Given the description of an element on the screen output the (x, y) to click on. 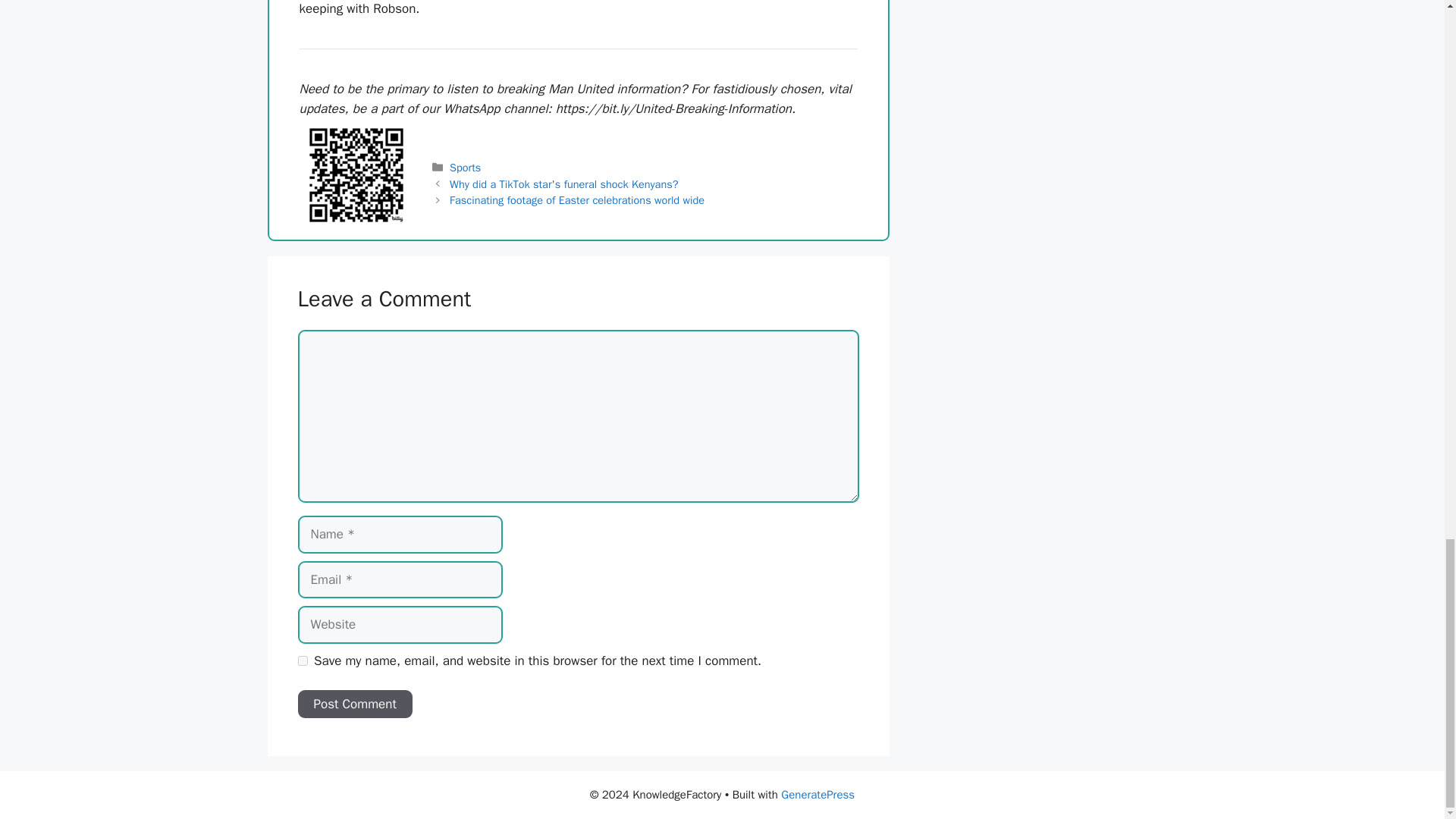
Fascinating footage of Easter celebrations world wide (576, 200)
GeneratePress (817, 794)
Sports (464, 167)
Post Comment (354, 704)
Post Comment (354, 704)
yes (302, 660)
Why did a TikTok star's funeral shock Kenyans? (563, 183)
